Given the description of an element on the screen output the (x, y) to click on. 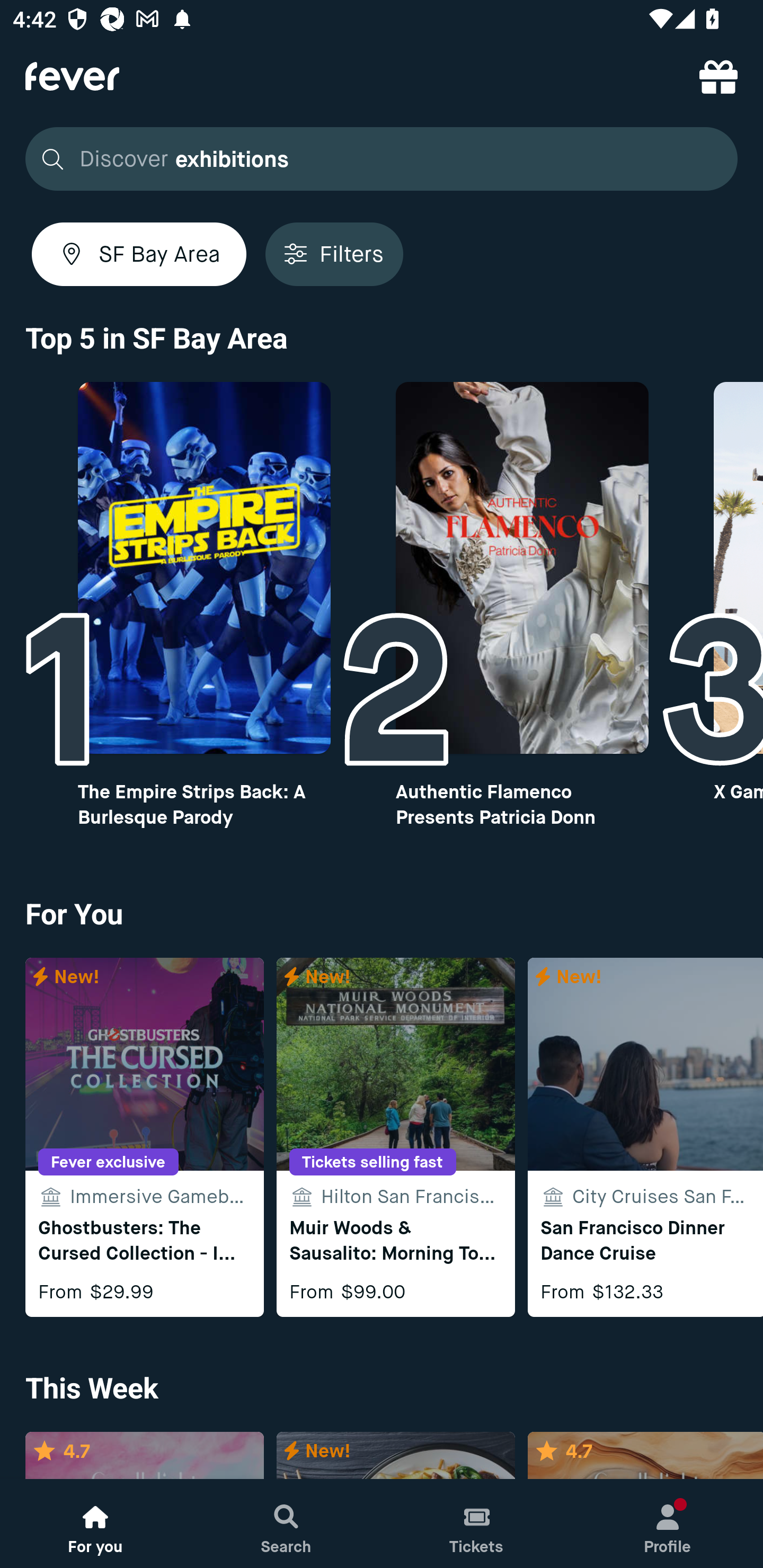
referral (718, 75)
Discover exhibitions (381, 158)
Discover exhibitions (376, 158)
SF Bay Area (139, 253)
Filters (333, 253)
Top10 image (203, 568)
Top10 image (521, 568)
Search (285, 1523)
Tickets (476, 1523)
Profile, New notification Profile (667, 1523)
